Given the description of an element on the screen output the (x, y) to click on. 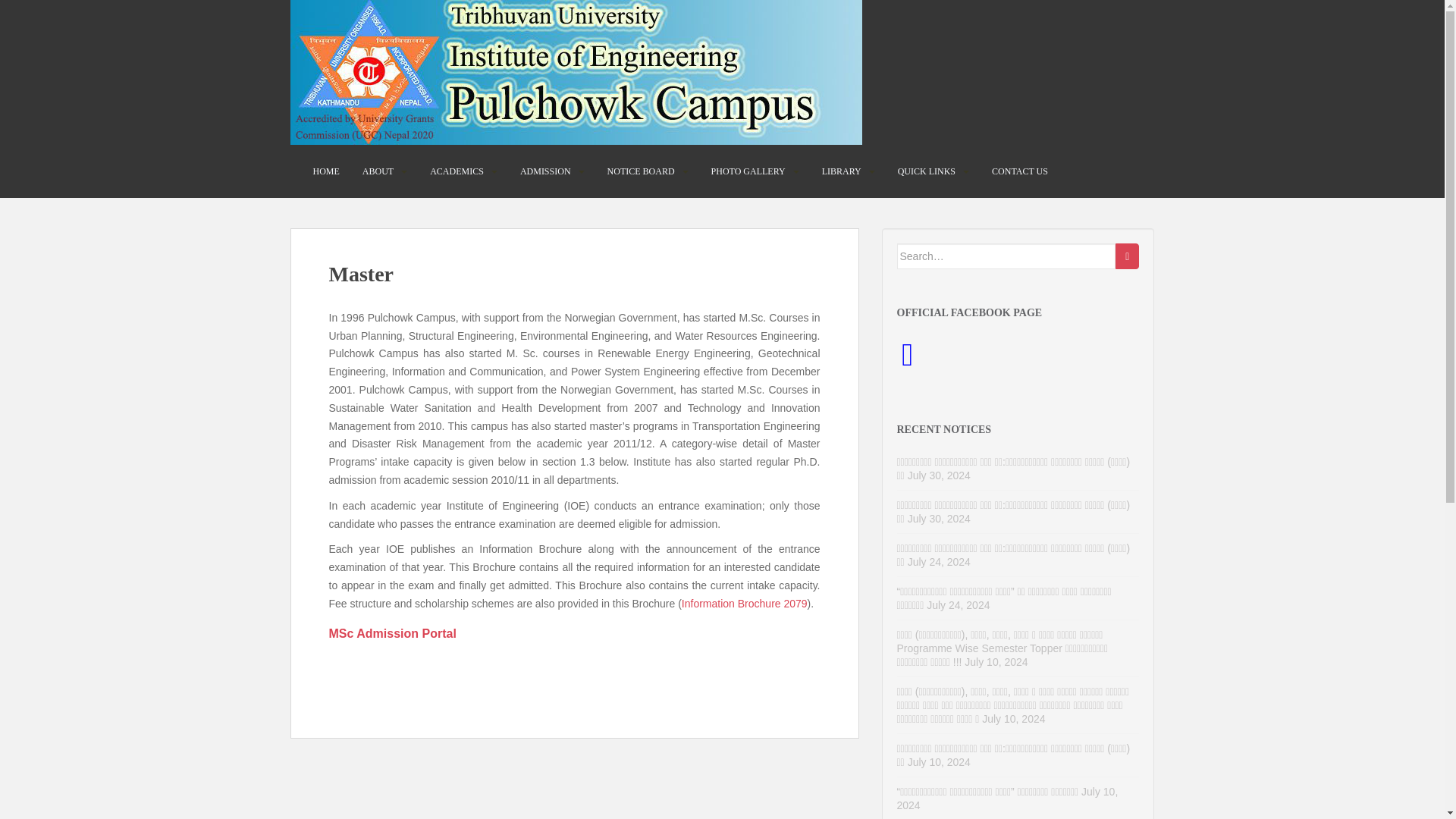
ADMISSION (544, 171)
NOTICE BOARD (641, 171)
PHOTO GALLERY (748, 171)
ACADEMICS (456, 171)
Search for: (1005, 256)
ABOUT (377, 171)
